Given the description of an element on the screen output the (x, y) to click on. 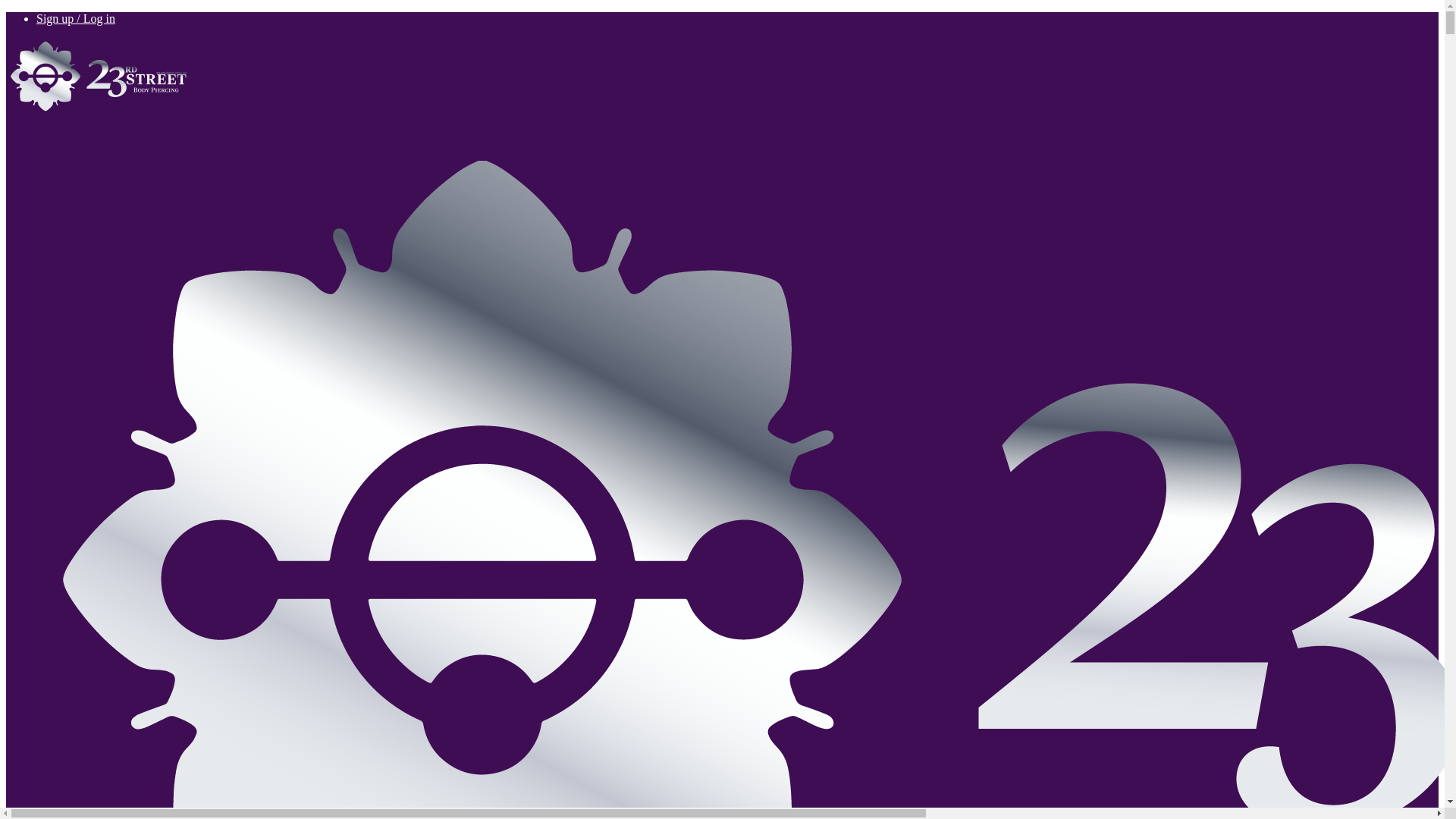
Sign up / Log in Element type: text (75, 18)
